Given the description of an element on the screen output the (x, y) to click on. 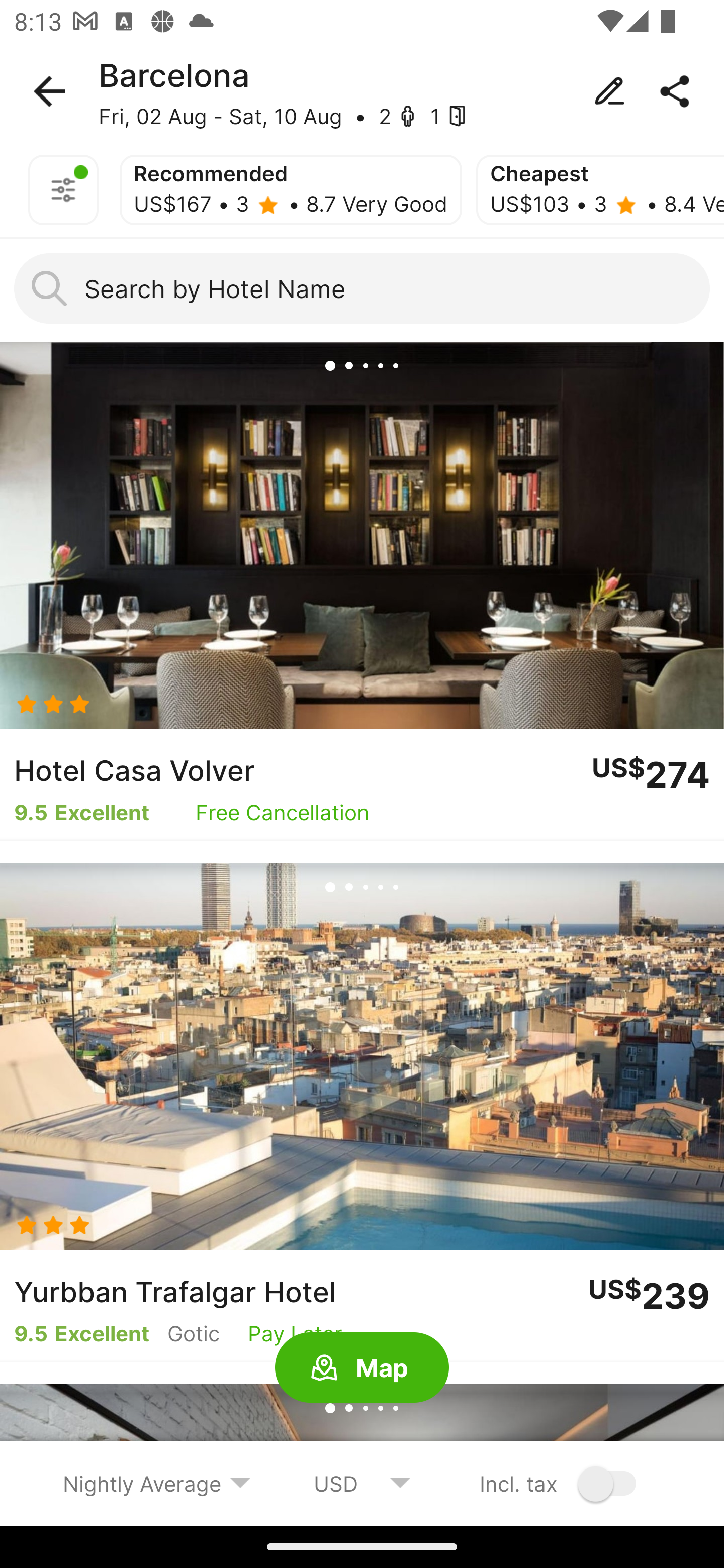
Barcelona Fri, 02 Aug - Sat, 10 Aug  •  2 -  1 - (361, 91)
Recommended  US$167  • 3 - • 8.7 Very Good (290, 190)
Cheapest US$103  • 3 - • 8.4 Very Good (600, 190)
Search by Hotel Name  (361, 288)
Map  (361, 1367)
Nightly Average (156, 1482)
USD (361, 1482)
